Given the description of an element on the screen output the (x, y) to click on. 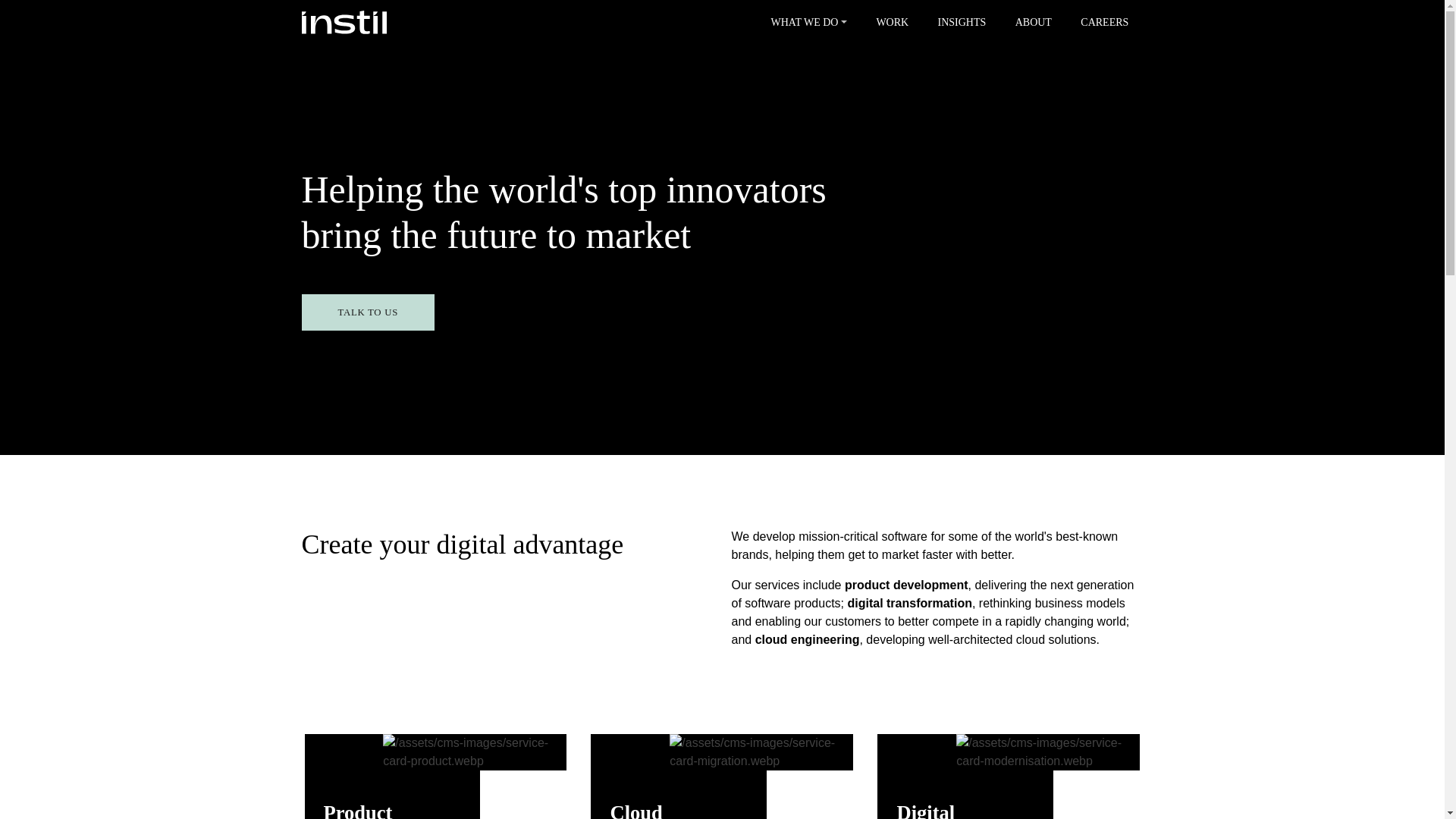
CAREERS (1103, 22)
WHAT WE DO (808, 22)
WORK (892, 22)
INSIGHTS (961, 22)
TALK TO US (367, 312)
ABOUT (1034, 22)
